Given the description of an element on the screen output the (x, y) to click on. 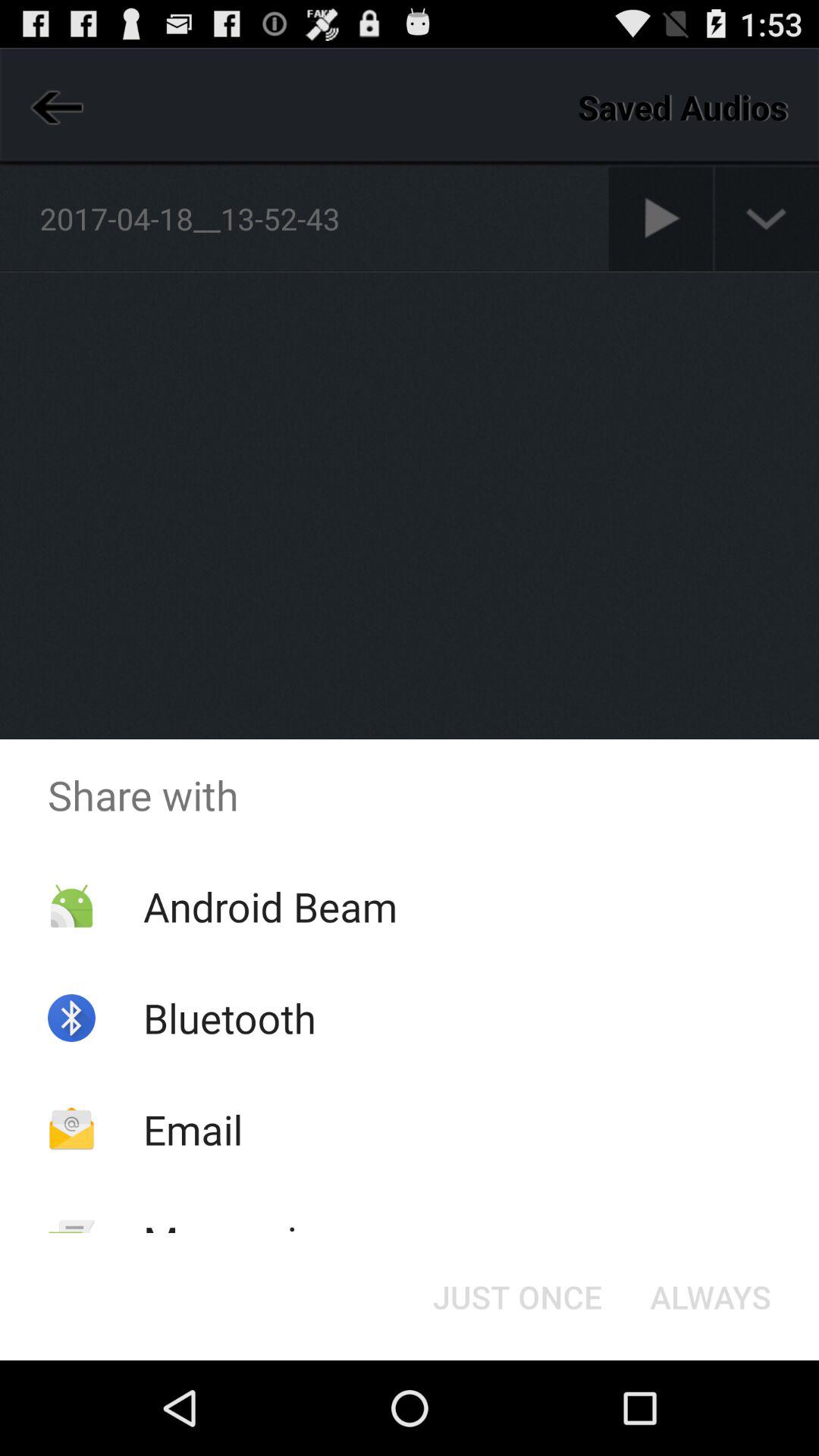
swipe to the bluetooth item (229, 1017)
